Given the description of an element on the screen output the (x, y) to click on. 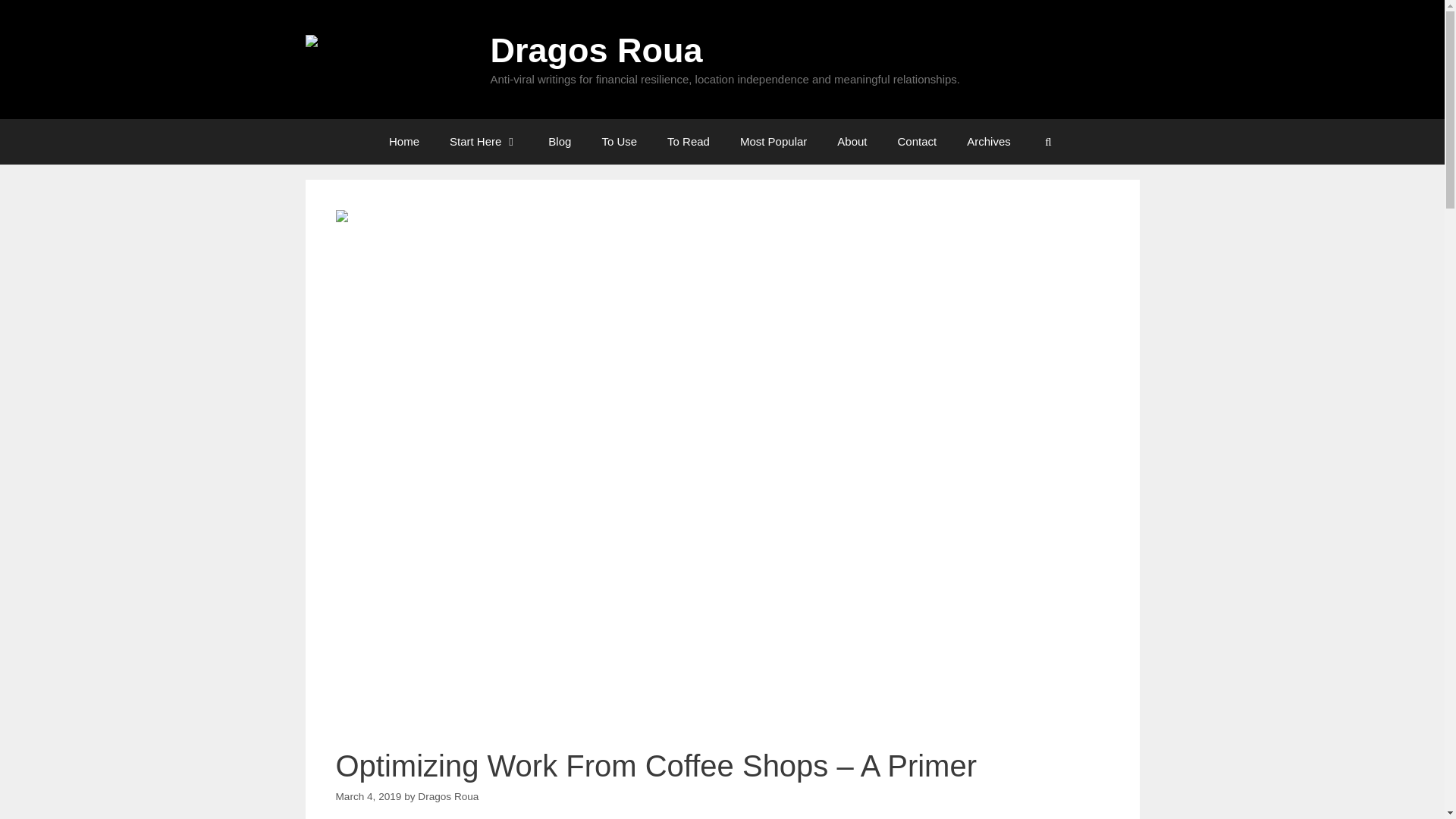
To Use (619, 140)
Dragos Roua (448, 796)
Contact (917, 140)
Blog (559, 140)
Search (34, 17)
Archives (989, 140)
To Read (688, 140)
About (852, 140)
Dragos Roua (387, 57)
View all posts by Dragos Roua (448, 796)
Dragos Roua (387, 59)
Start Here (482, 140)
Home (403, 140)
Most Popular (773, 140)
Dragos Roua (595, 50)
